Given the description of an element on the screen output the (x, y) to click on. 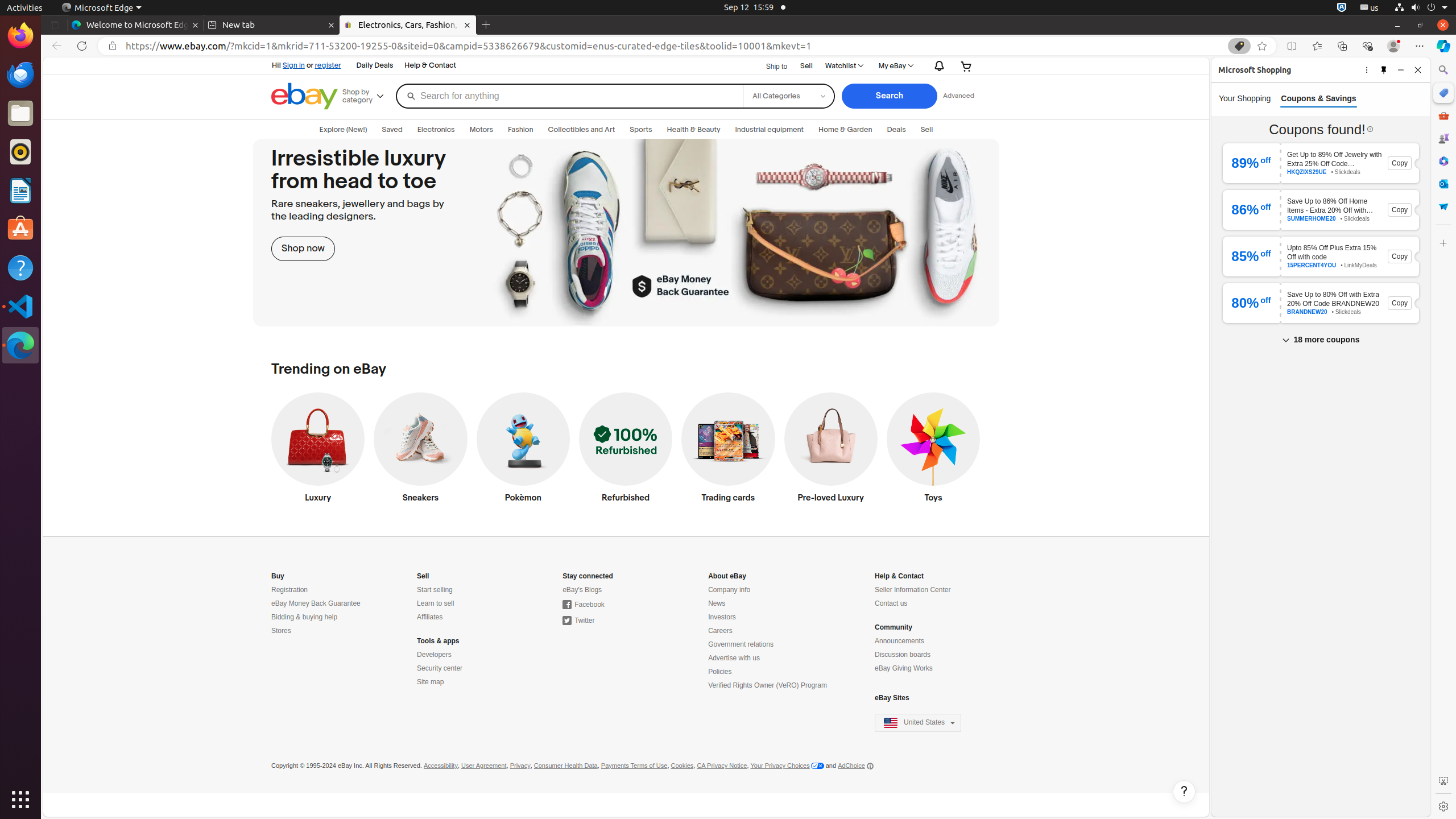
Add this page to favorites (Ctrl+D) Element type: push-button (1261, 46)
Sports Element type: link (640, 129)
Tab actions menu Element type: push-button (54, 24)
Refurbished Element type: link (625, 450)
Fashion Element type: link (520, 129)
